Given the description of an element on the screen output the (x, y) to click on. 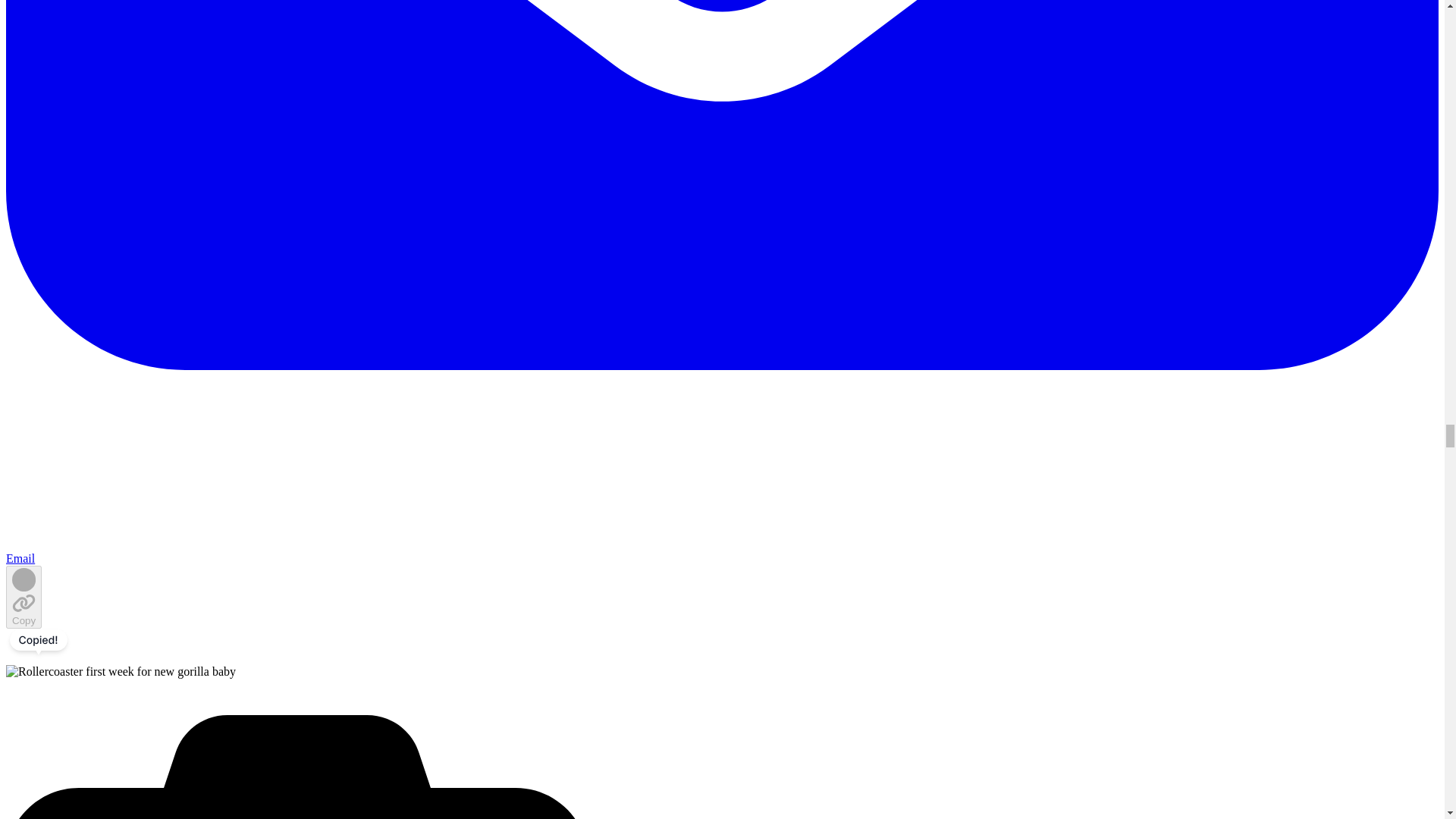
Rollercoaster first week for new gorilla baby (120, 671)
